Given the description of an element on the screen output the (x, y) to click on. 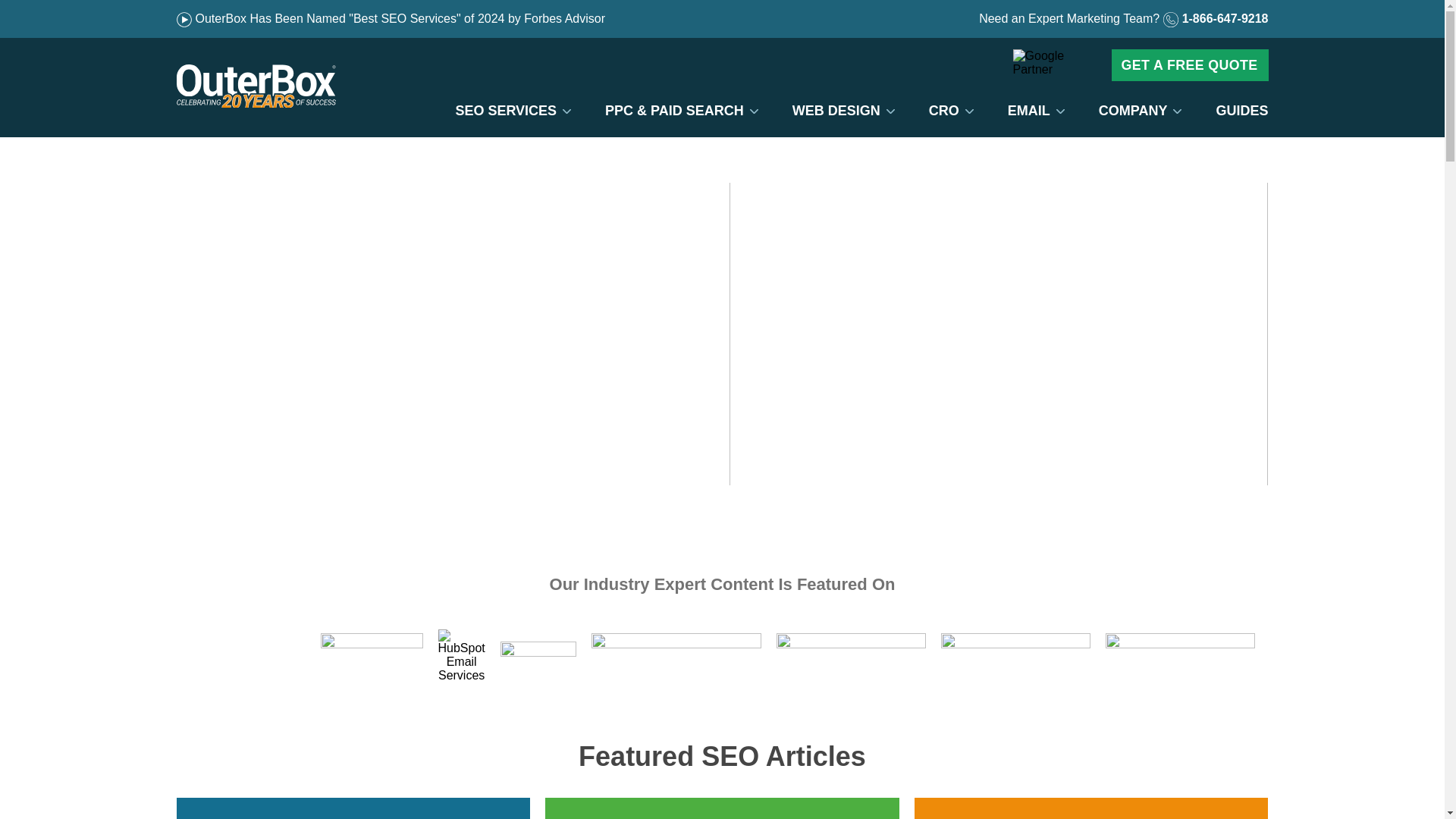
CRO (944, 111)
WEB DESIGN (836, 111)
SEO Services by Outerbox (505, 111)
PPC Management (673, 111)
SEO SERVICES (505, 111)
1-866-647-9218 (1215, 18)
GET A FREE QUOTE (1190, 65)
